Given the description of an element on the screen output the (x, y) to click on. 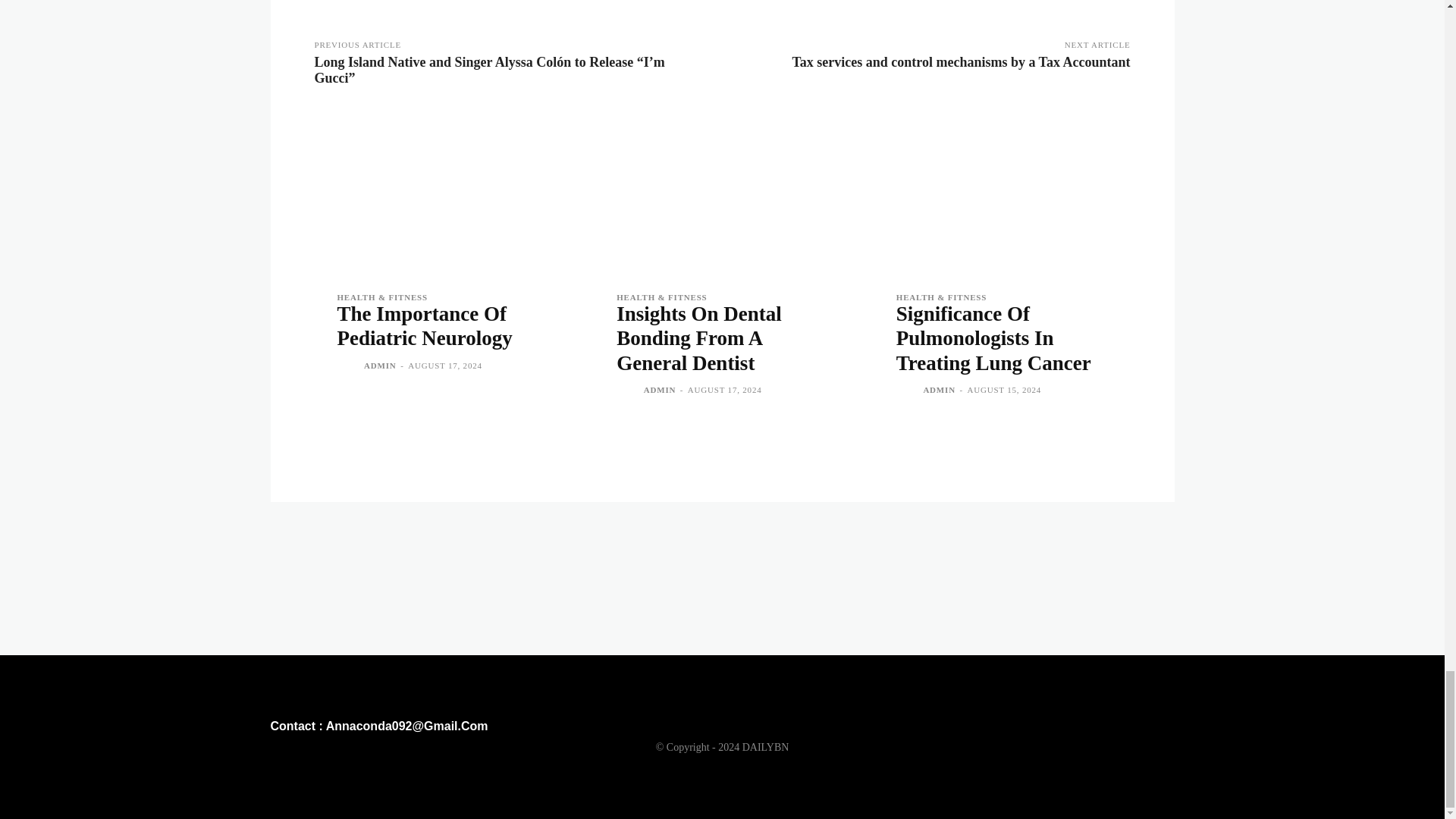
The Importance Of Pediatric Neurology (424, 325)
Insights On Dental Bonding From A General Dentist (698, 338)
Insights On Dental Bonding From A General Dentist (722, 194)
The Importance Of Pediatric Neurology (442, 194)
